Given the description of an element on the screen output the (x, y) to click on. 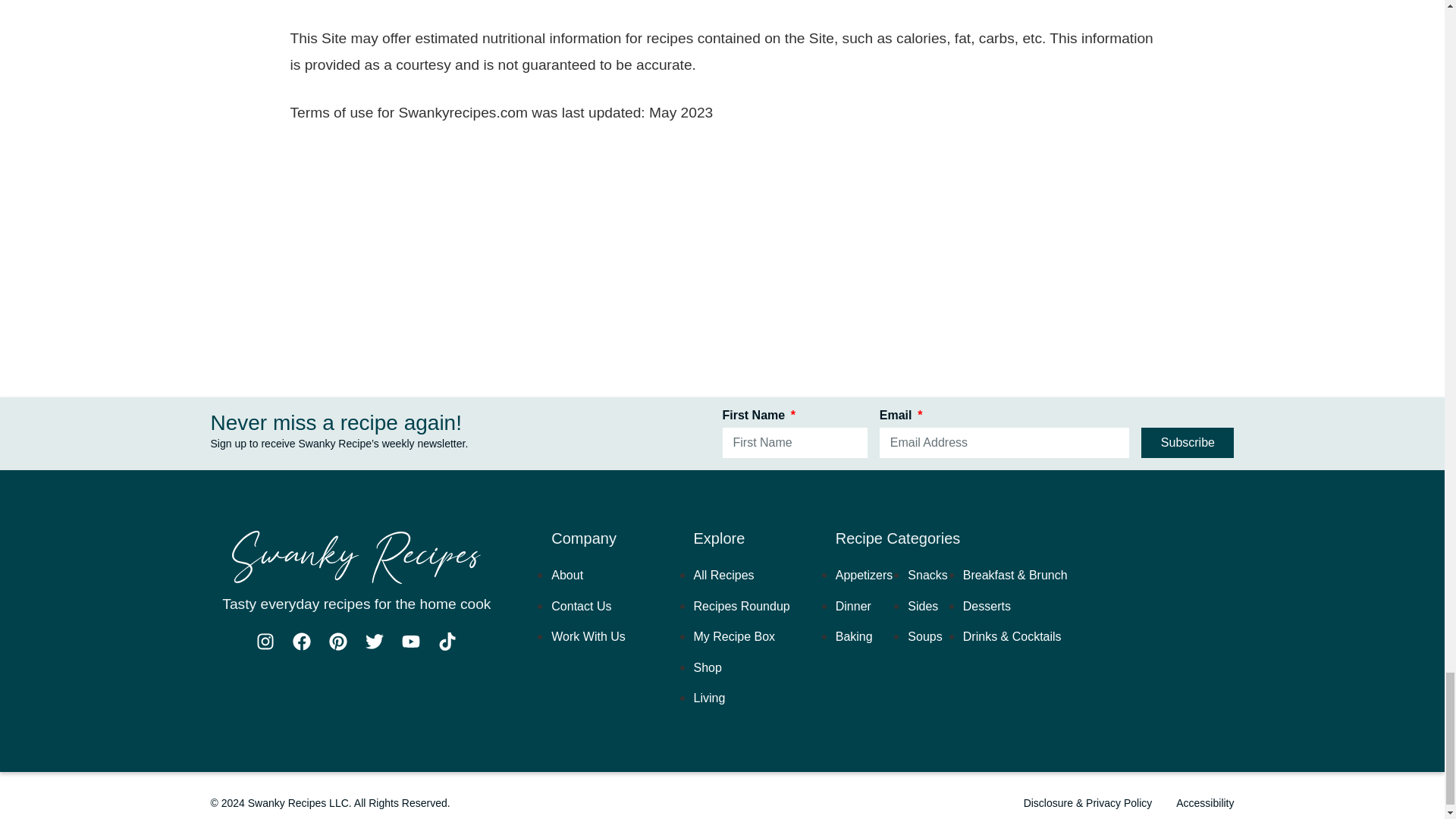
All Recipes (724, 574)
Recipes Roundup (742, 605)
Work With Us (587, 635)
Contact Us (581, 605)
Subscribe (1187, 442)
About (567, 574)
